Given the description of an element on the screen output the (x, y) to click on. 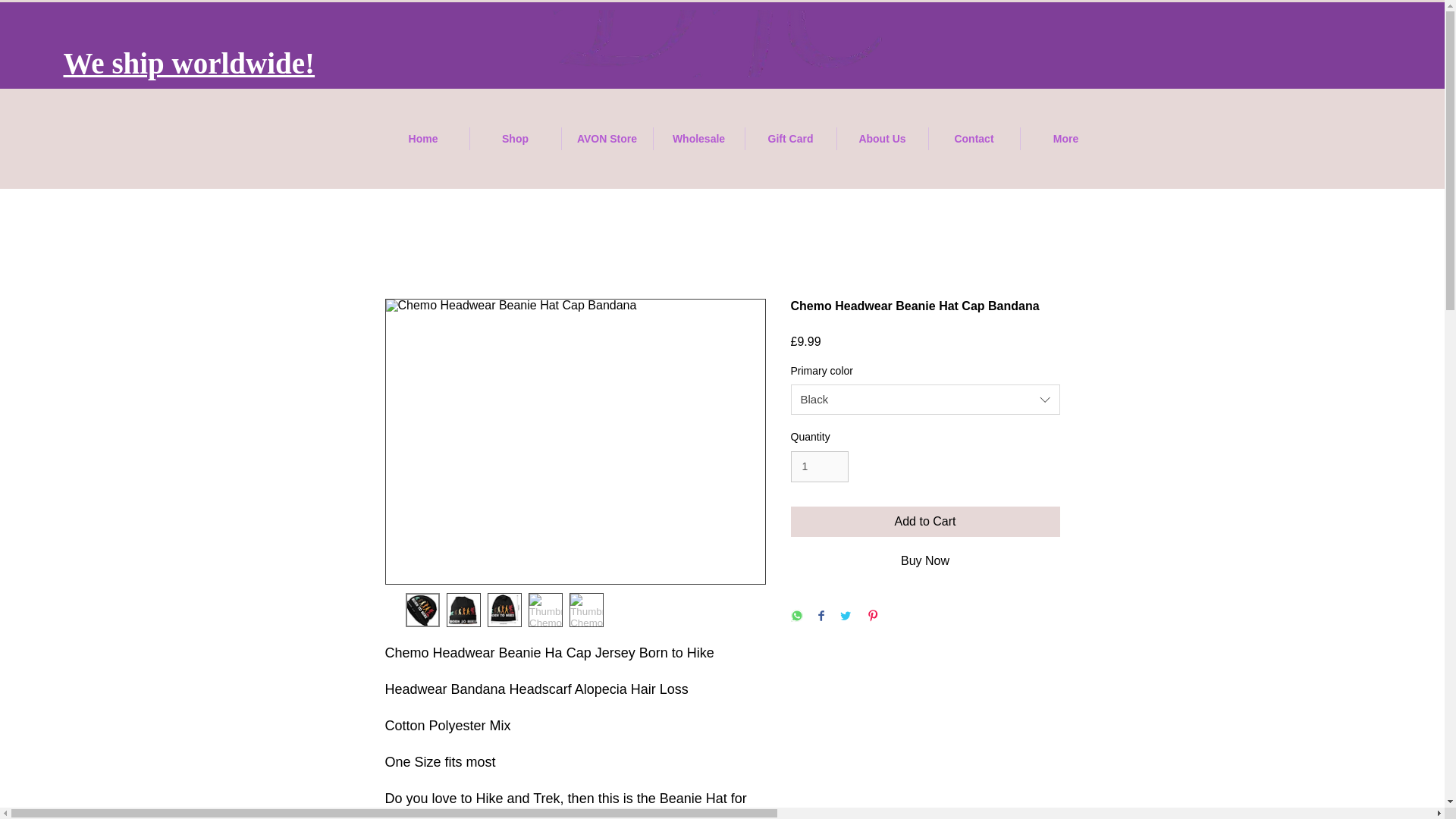
Gift Card (789, 138)
Shop (515, 138)
Wholesale (698, 138)
Buy Now (924, 561)
About Us (882, 138)
Contact (973, 138)
AVON Store (606, 138)
Black (924, 399)
Log In (419, 17)
Add to Cart (924, 521)
1 (818, 466)
Home (422, 138)
